Given the description of an element on the screen output the (x, y) to click on. 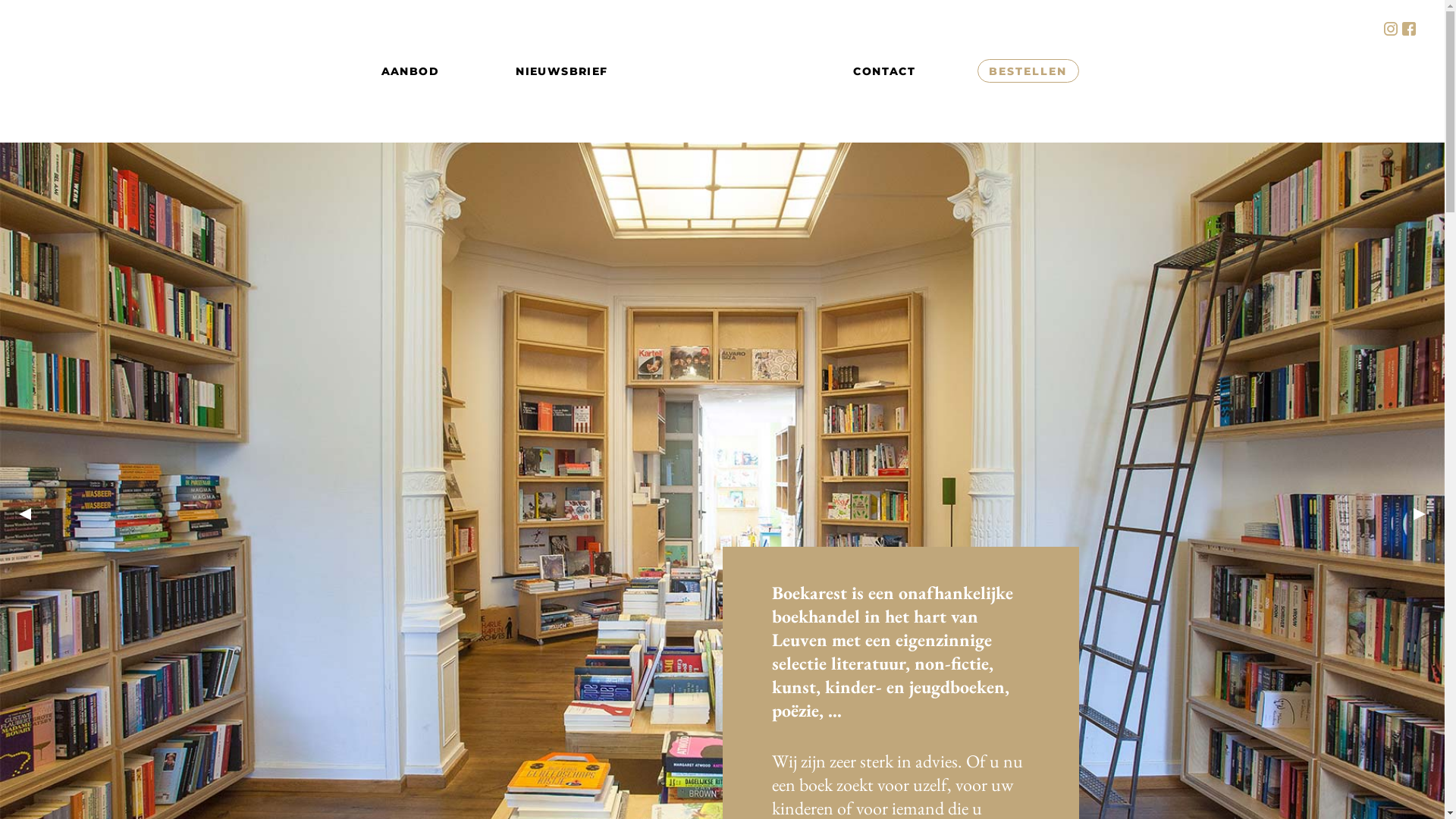
AANBOD Element type: text (409, 70)
BESTELLEN Element type: text (1028, 70)
I Element type: text (1390, 27)
BOEKAREST Element type: text (730, 71)
F Element type: text (1408, 27)
NIEUWSBRIEF Element type: text (561, 70)
CONTACT Element type: text (883, 70)
